Given the description of an element on the screen output the (x, y) to click on. 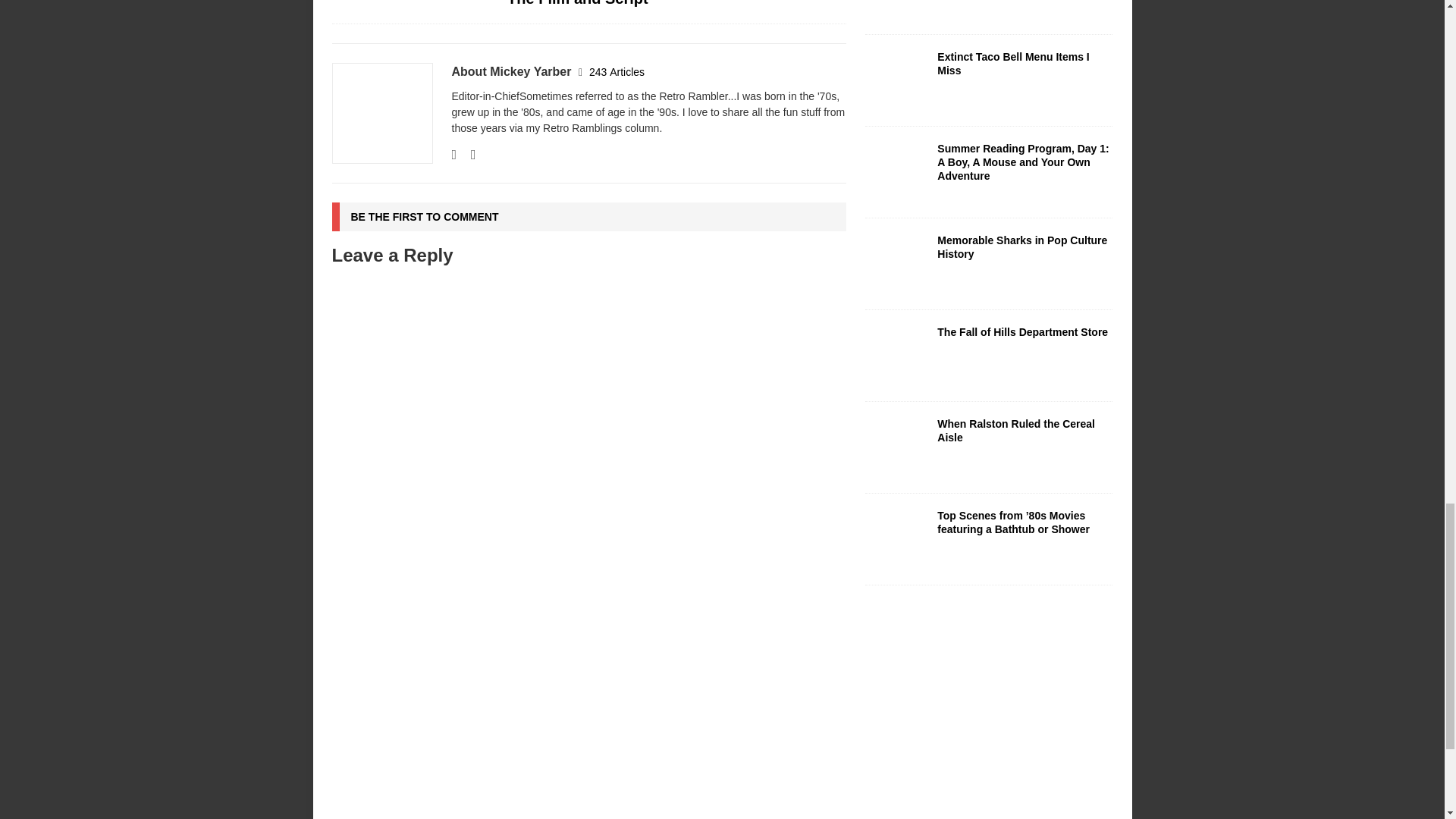
Follow Mickey Yarber on Twitter (468, 154)
More articles written by Mickey Yarber' (617, 71)
